Given the description of an element on the screen output the (x, y) to click on. 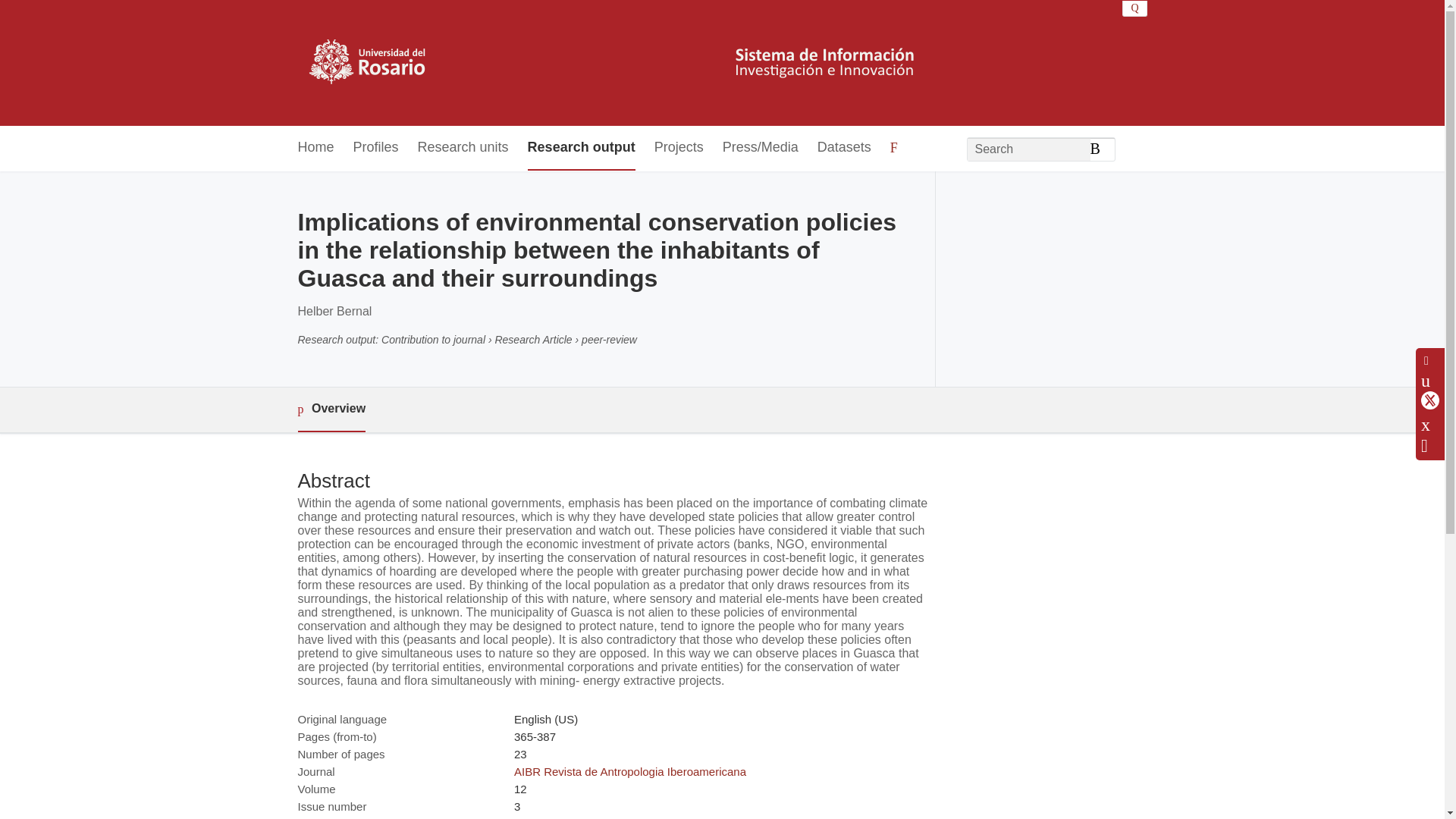
Profiles (375, 148)
Universidad del Rosario Home (615, 62)
Overview (331, 409)
AIBR Revista de Antropologia Iberoamericana (629, 771)
Datasets (843, 148)
Research units (462, 148)
Projects (678, 148)
Research output (580, 148)
